Given the description of an element on the screen output the (x, y) to click on. 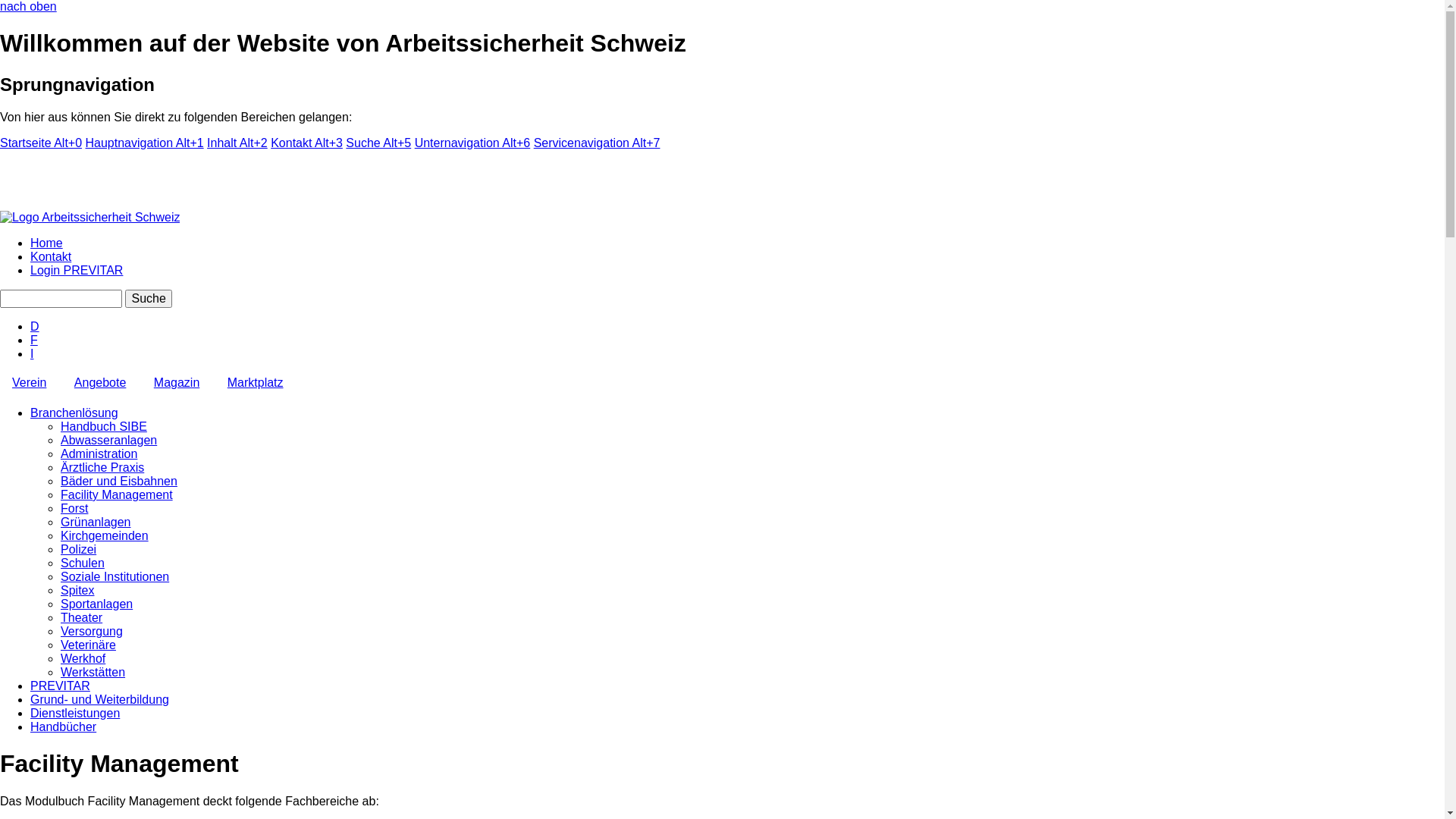
PREVITAR Element type: text (60, 685)
Suche Element type: text (148, 298)
Kirchgemeinden Element type: text (104, 535)
Sportanlagen Element type: text (96, 603)
Schulen Element type: text (82, 562)
Kontakt Alt+3 Element type: text (306, 142)
Polizei Element type: text (78, 548)
Kontakt Element type: text (50, 256)
Magazin Element type: text (176, 383)
Dienstleistungen Element type: text (74, 712)
Servicenavigation Alt+7 Element type: text (596, 142)
Marktplatz Element type: text (255, 383)
Direkt zum Inhalt Element type: text (0, 0)
Handbuch SIBE Element type: text (103, 426)
Spitex Element type: text (77, 589)
Startseite Element type: hover (89, 216)
Angebote Element type: text (100, 383)
Versorgung Element type: text (91, 630)
D Element type: text (34, 326)
Theater Element type: text (81, 617)
Die Begriffe eingeben, nach denen gesucht werden soll. Element type: hover (61, 298)
Unternavigation Alt+6 Element type: text (472, 142)
Home Element type: text (46, 242)
F Element type: text (33, 339)
nach oben Element type: text (28, 6)
Abwasseranlagen Element type: text (108, 439)
Hauptnavigation Alt+1 Element type: text (144, 142)
Soziale Institutionen Element type: text (114, 576)
Verein Element type: text (29, 383)
Administration Element type: text (98, 453)
Login PREVITAR Element type: text (76, 269)
I Element type: text (31, 353)
Grund- und Weiterbildung Element type: text (99, 699)
Facility Management Element type: text (116, 494)
Forst Element type: text (73, 508)
Werkhof Element type: text (82, 658)
Startseite Alt+0 Element type: text (40, 142)
Sprungnavigation Element type: text (77, 84)
Inhalt Alt+2 Element type: text (237, 142)
Suche Alt+5 Element type: text (378, 142)
